Given the description of an element on the screen output the (x, y) to click on. 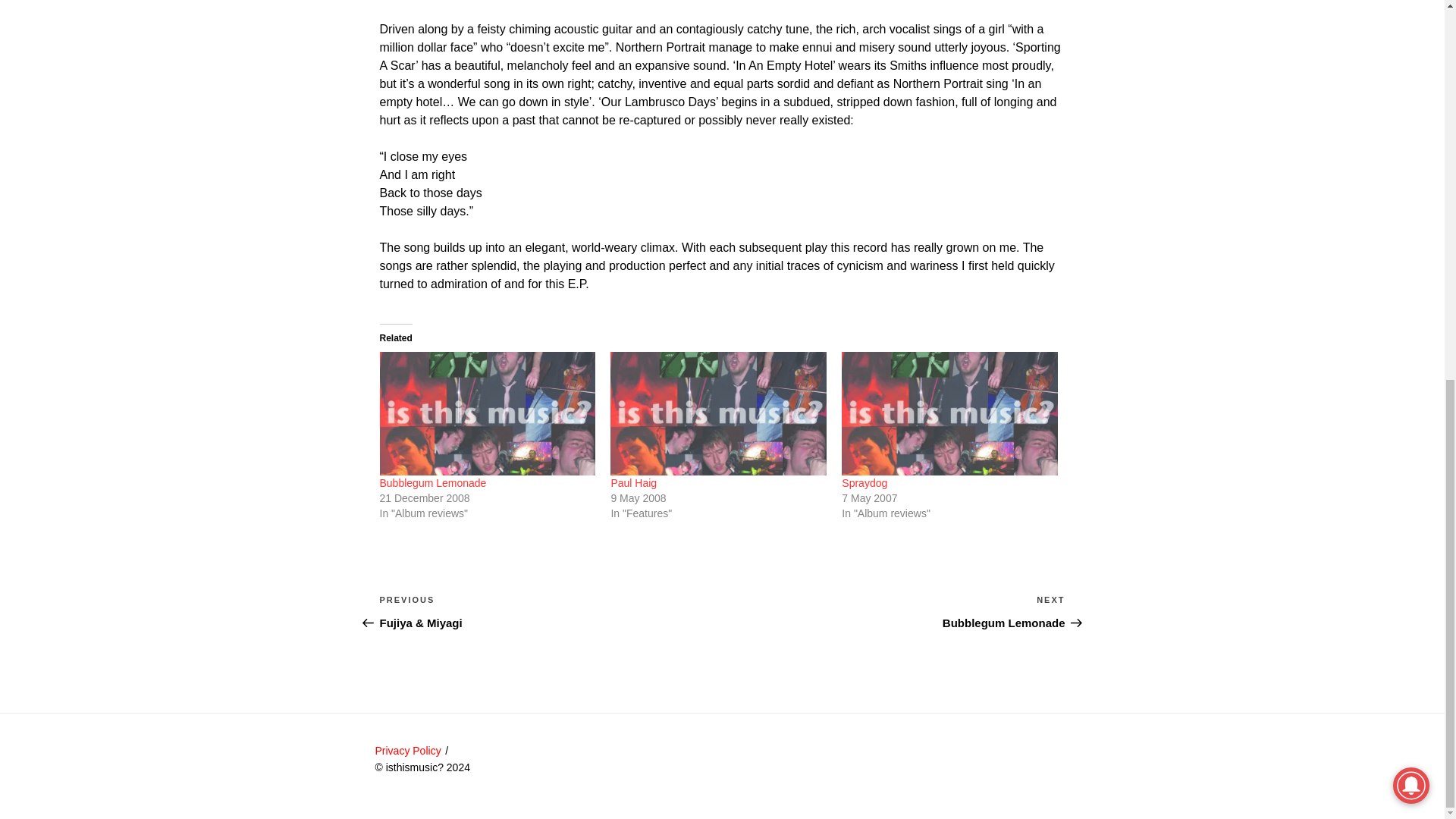
Spraydog (863, 482)
Bubblegum Lemonade (486, 413)
Privacy Policy (407, 750)
Bubblegum Lemonade (432, 482)
Spraydog (949, 413)
Spraydog (863, 482)
Paul Haig (718, 413)
Paul Haig (633, 482)
Bubblegum Lemonade (893, 611)
Paul Haig (432, 482)
